Given the description of an element on the screen output the (x, y) to click on. 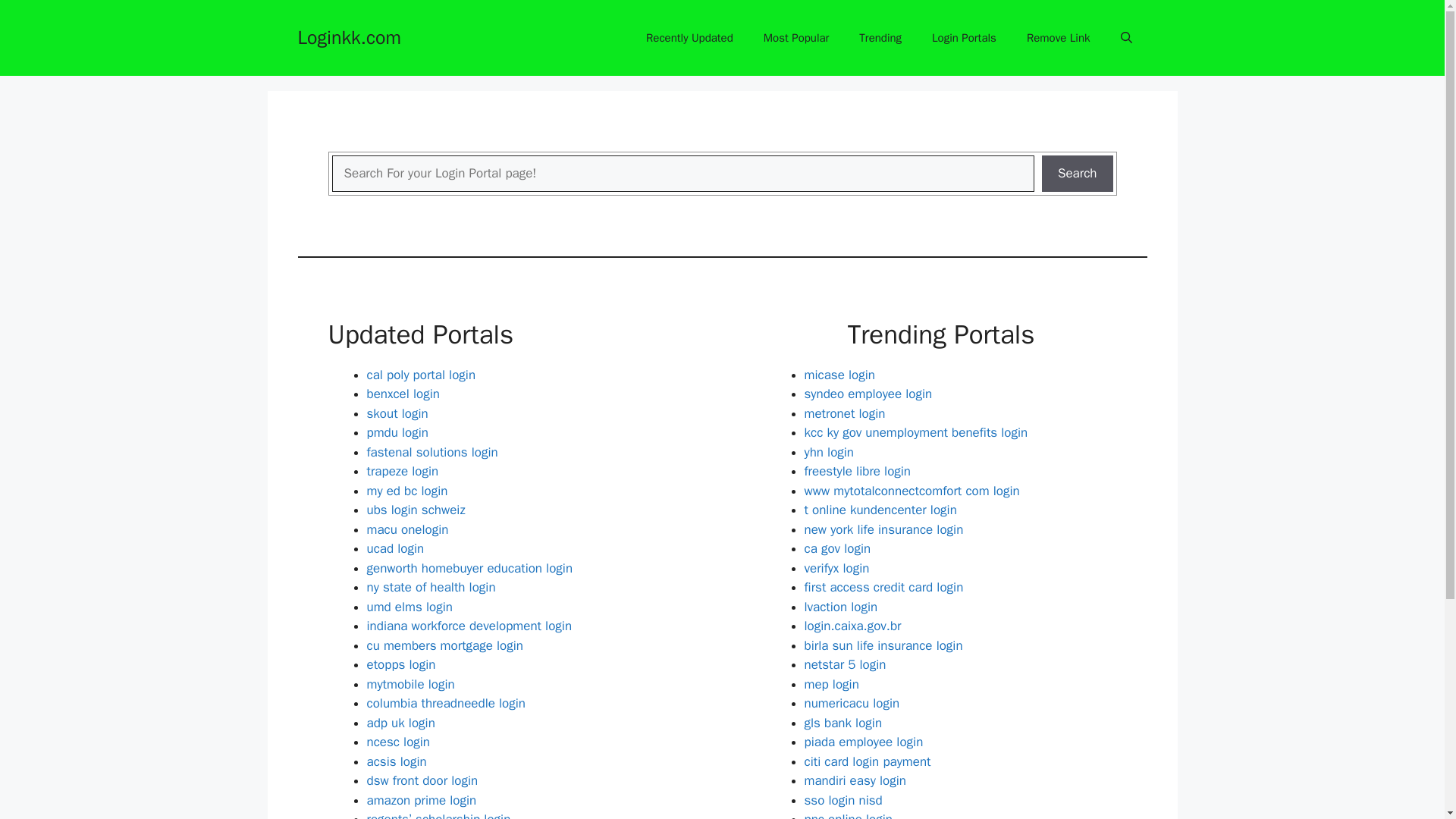
columbia threadneedle login (445, 703)
dsw front door login (422, 780)
macu onelogin (407, 529)
Recently Updated (689, 37)
Trending (880, 37)
trapeze login (402, 471)
Loginkk.com (348, 37)
Most Popular (796, 37)
genworth homebuyer education login (469, 567)
Login Portals (964, 37)
ubs login schweiz (415, 509)
acsis login (396, 761)
amazon prime login (421, 799)
cal poly portal login (421, 374)
Search (1077, 173)
